Given the description of an element on the screen output the (x, y) to click on. 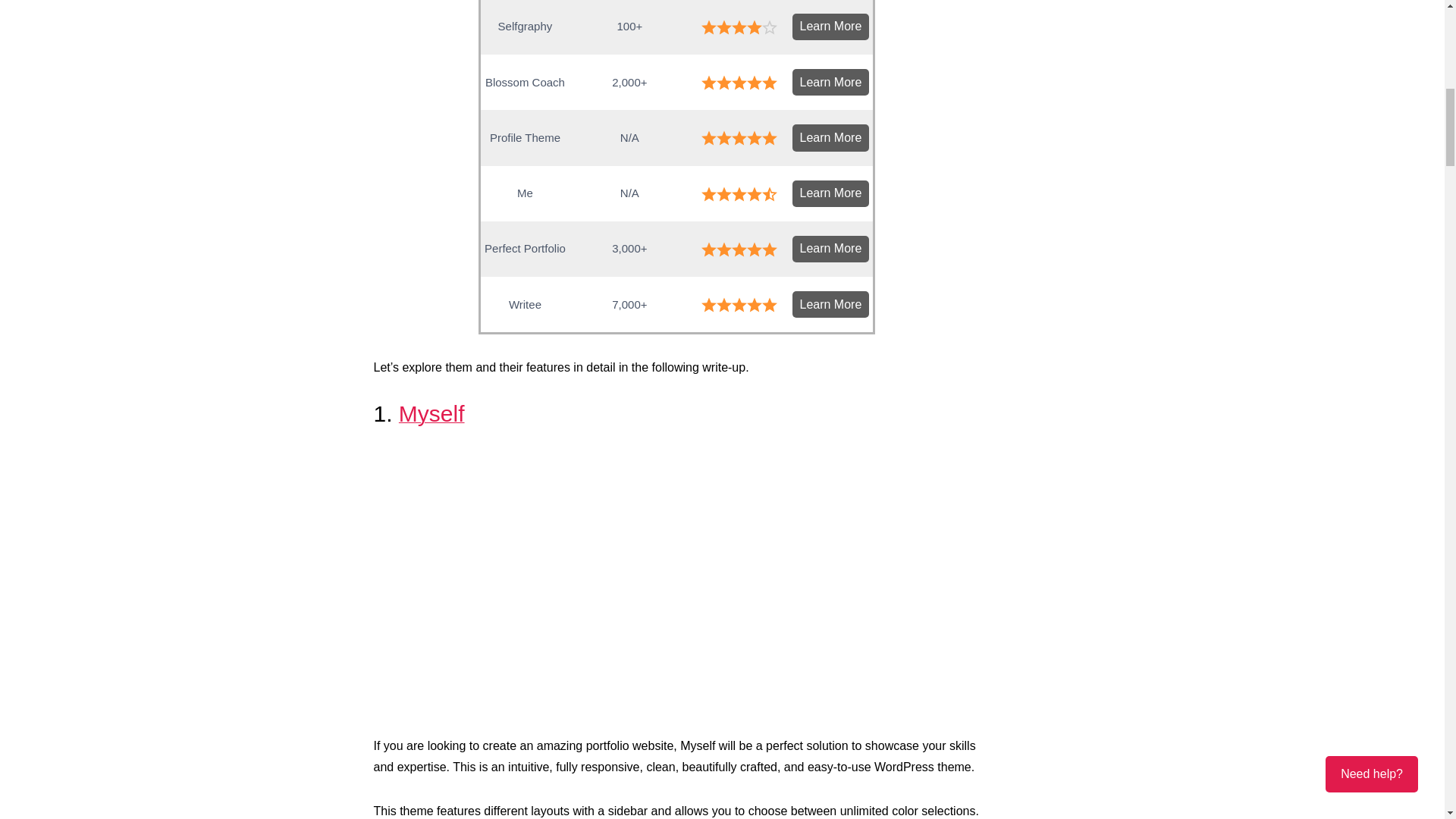
Learn More (830, 304)
Learn More (830, 193)
Learn More (830, 137)
Learn More (830, 26)
Learn More (830, 81)
Learn More (830, 248)
Myself (431, 413)
